Given the description of an element on the screen output the (x, y) to click on. 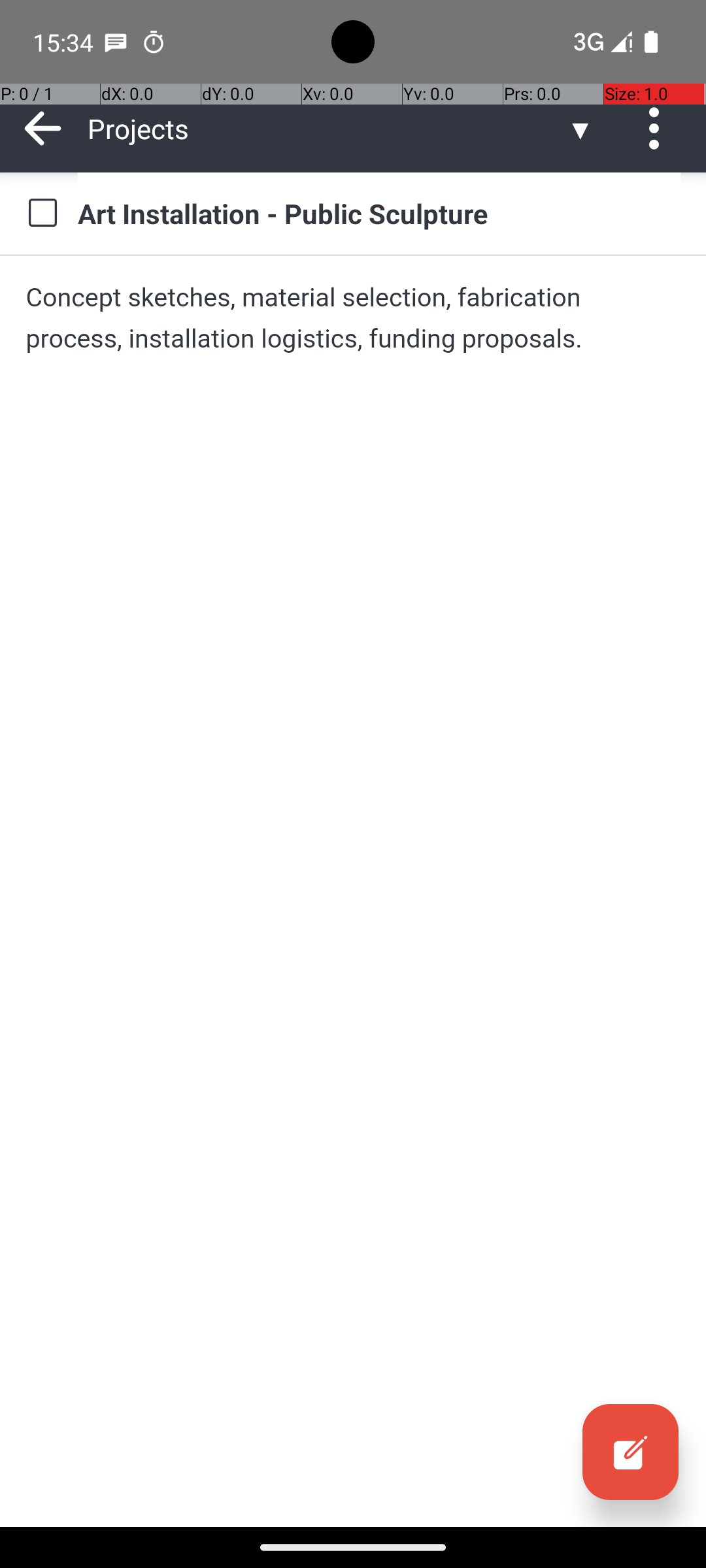
Art Installation - Public Sculpture Element type: android.widget.EditText (378, 213)
Concept sketches, material selection, fabrication process, installation logistics, funding proposals. Element type: android.widget.TextView (352, 317)
